Given the description of an element on the screen output the (x, y) to click on. 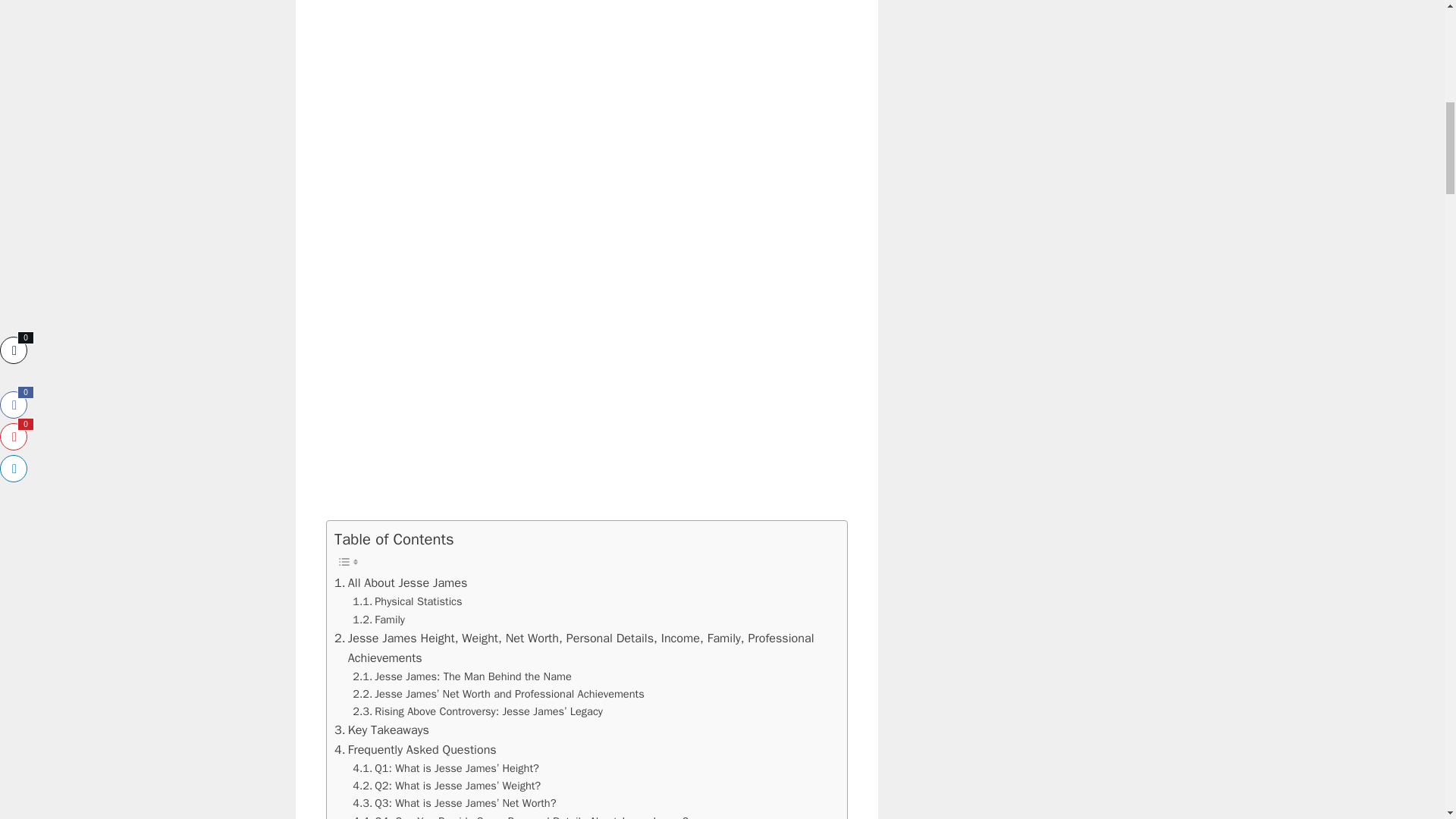
Jesse James: The Man Behind the Name (462, 675)
Key Takeaways (381, 730)
All About Jesse James (400, 582)
Family (378, 619)
Key Takeaways (381, 730)
Physical Statistics (406, 601)
Jesse James: The Man Behind the Name (462, 675)
Family (378, 619)
Frequently Asked Questions (415, 750)
